Given the description of an element on the screen output the (x, y) to click on. 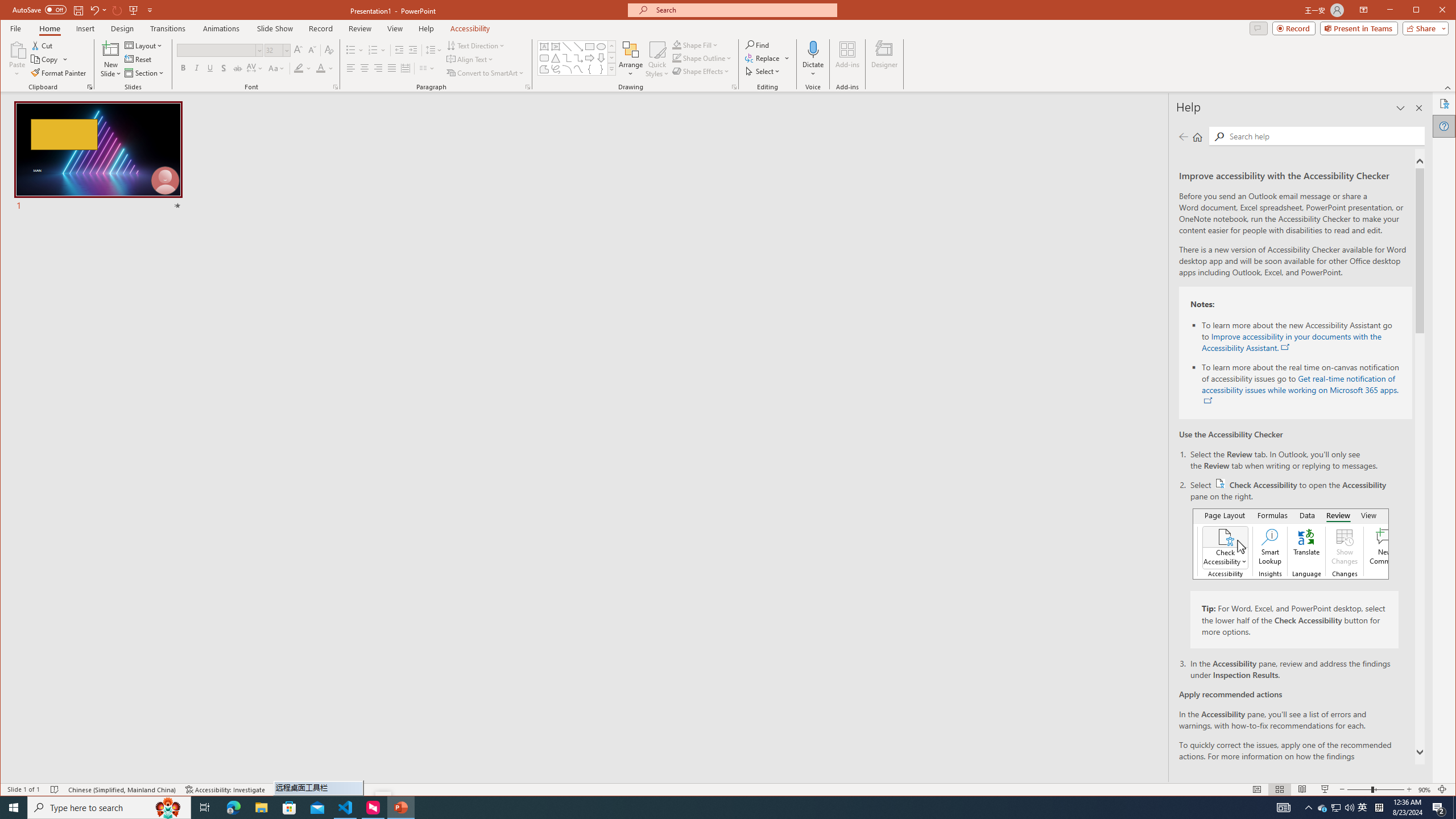
Zoom 90% (1424, 789)
